Given the description of an element on the screen output the (x, y) to click on. 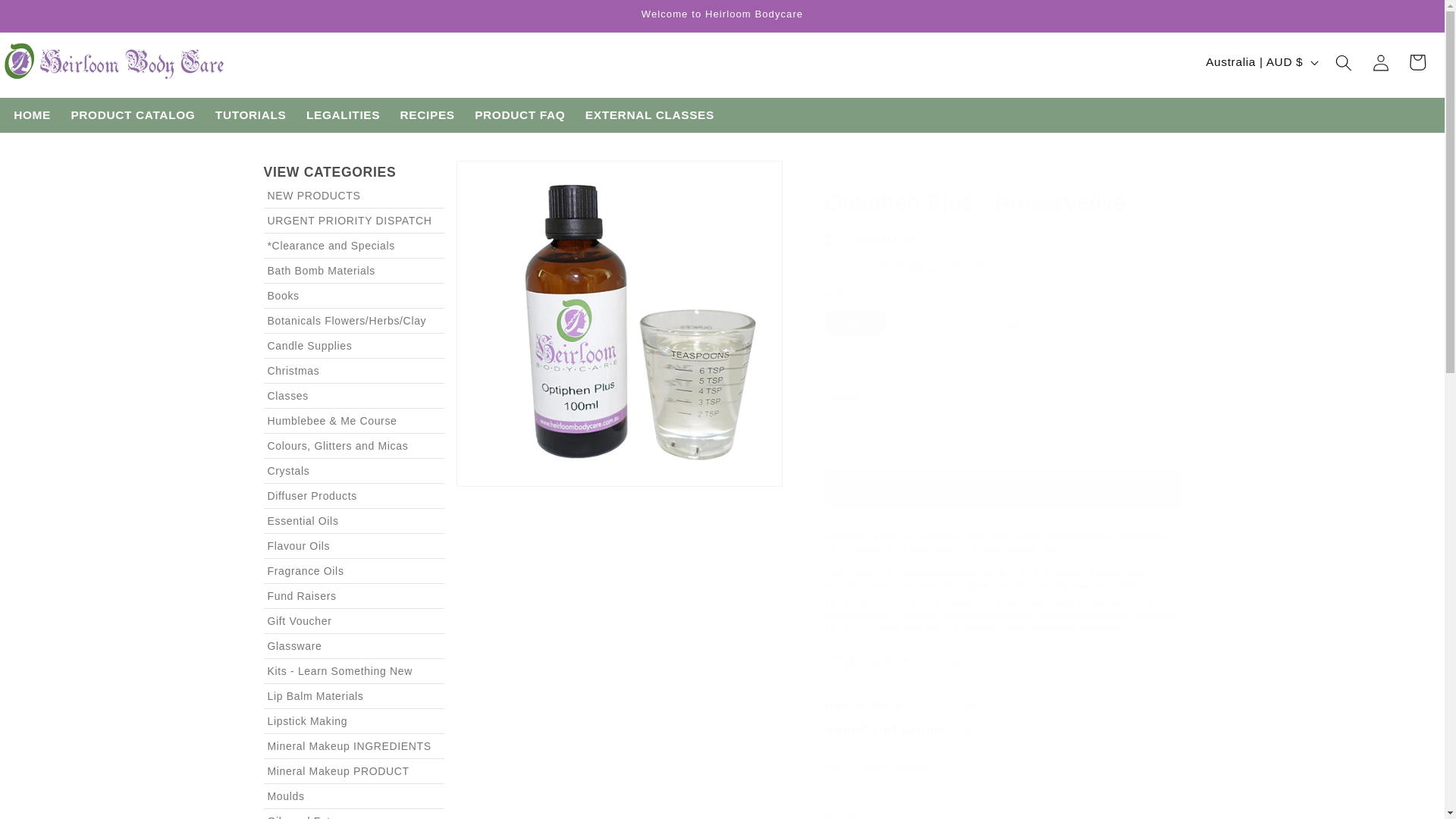
Books (355, 295)
Optiphen Plus SDS Document (881, 765)
EXTERNAL CLASSES (650, 114)
RECIPES (427, 114)
1 (877, 429)
TUTORIALS (251, 114)
Cart (1417, 62)
Bath Bomb Materials (355, 270)
